Given the description of an element on the screen output the (x, y) to click on. 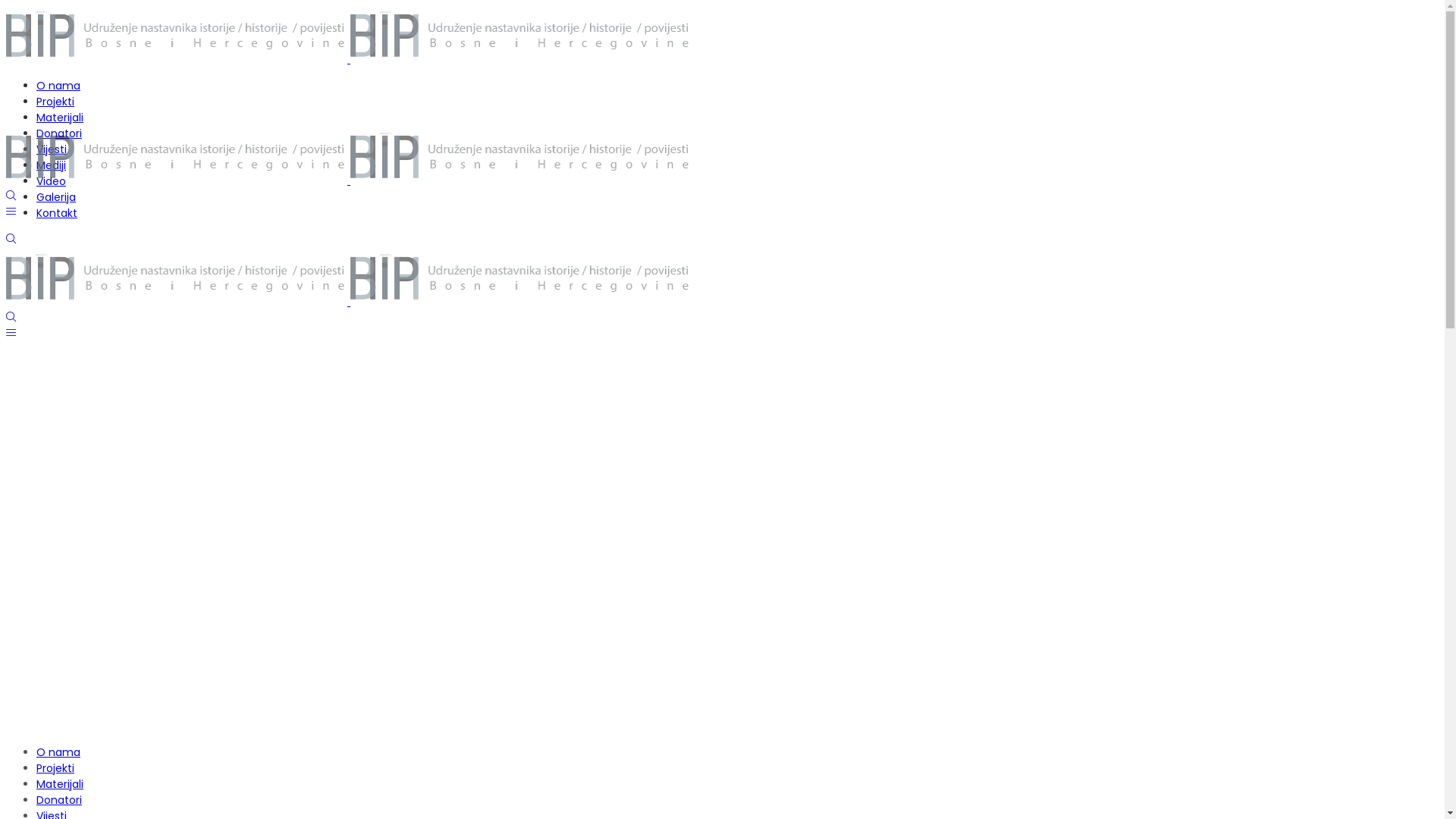
Mediji Element type: text (50, 164)
Materijali Element type: text (59, 783)
Donatori Element type: text (58, 799)
O nama Element type: text (58, 85)
Projekti Element type: text (55, 101)
Galerija Element type: text (55, 196)
Video Element type: text (50, 180)
O nama Element type: text (58, 751)
Materijali Element type: text (59, 117)
Vijesti Element type: text (51, 148)
Projekti Element type: text (55, 767)
Donatori Element type: text (58, 133)
Kontakt Element type: text (56, 212)
